Given the description of an element on the screen output the (x, y) to click on. 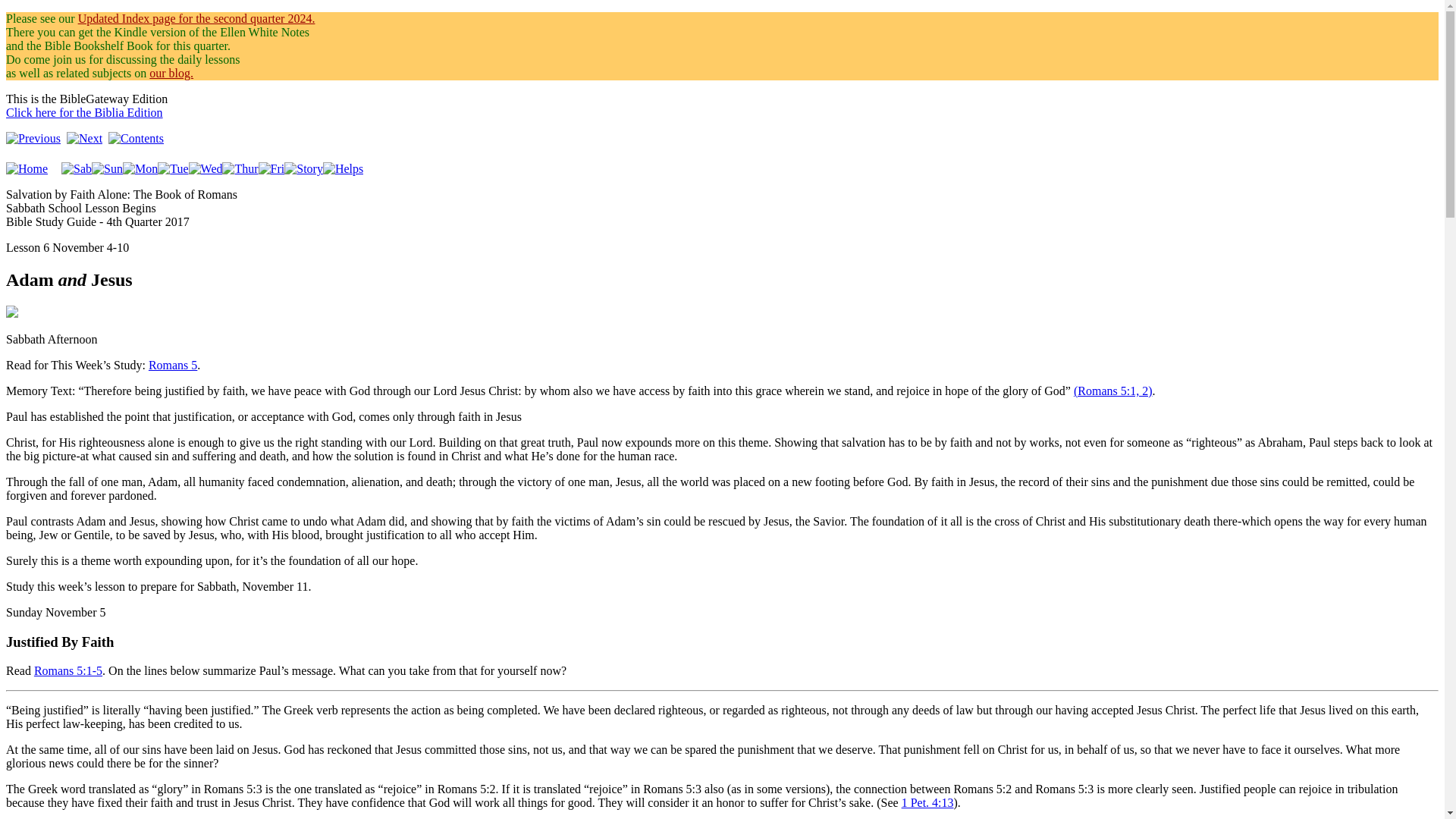
Click here for the Biblia Edition (86, 119)
Updated Index page for the second quarter 2024. (196, 18)
Romans 5 (172, 364)
our blog. (171, 72)
Romans 5:1-5 (67, 670)
1 Pet. 4:13 (927, 802)
